Given the description of an element on the screen output the (x, y) to click on. 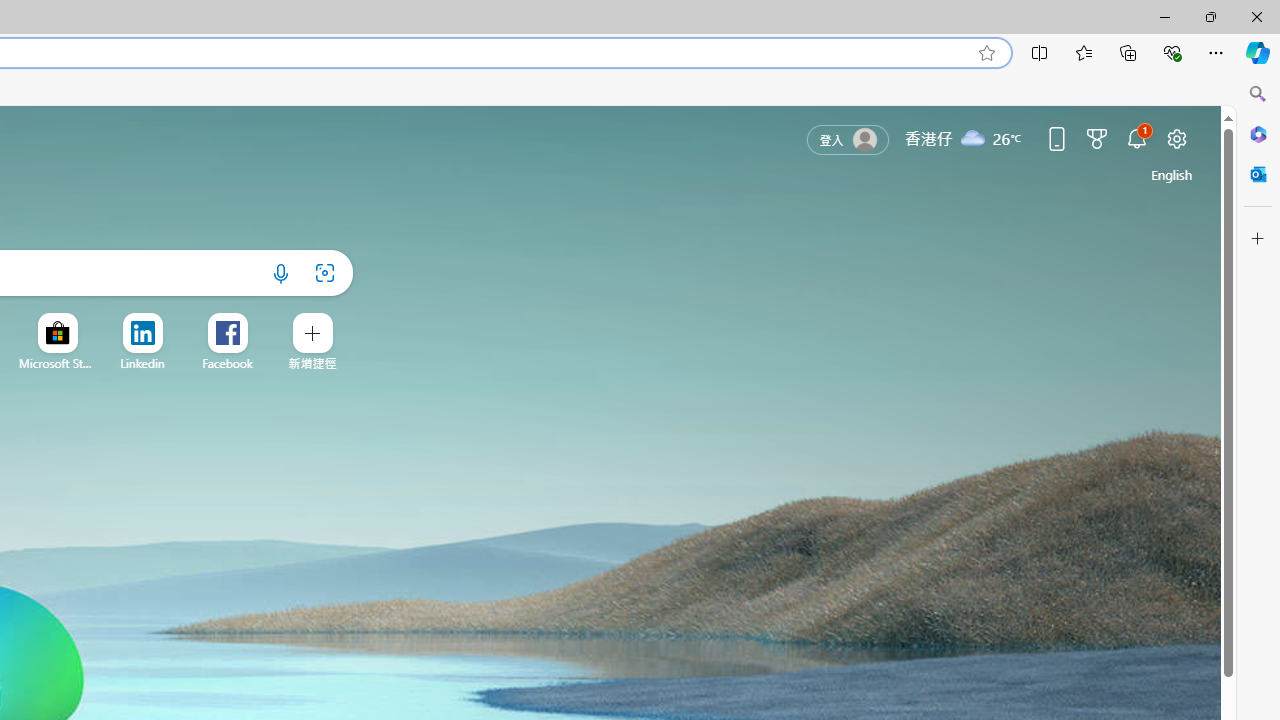
United States (English) (1171, 174)
Facebook (227, 363)
Linkedin (142, 363)
Microsoft Rewards (1096, 138)
